Given the description of an element on the screen output the (x, y) to click on. 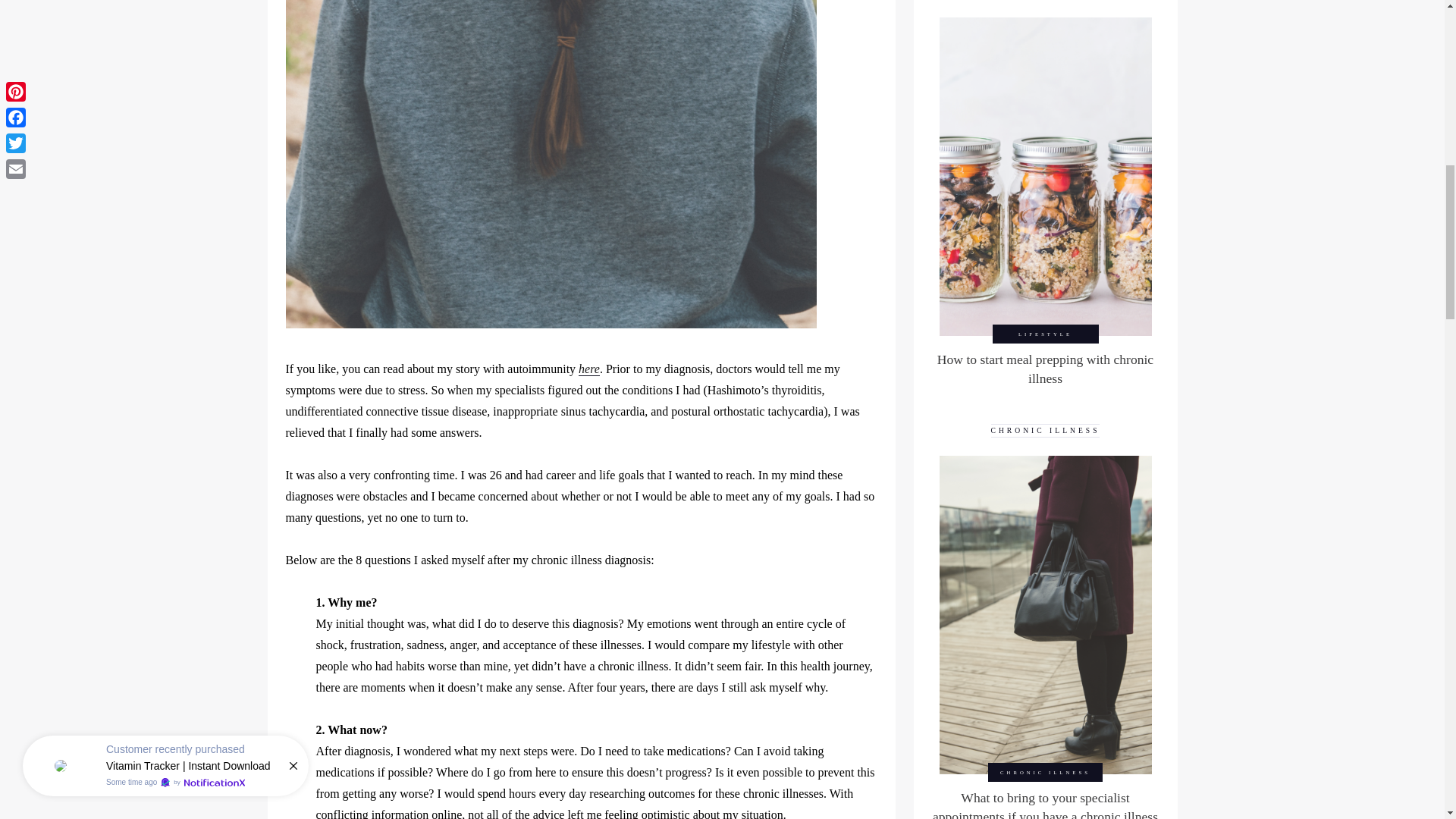
here (588, 368)
